Given the description of an element on the screen output the (x, y) to click on. 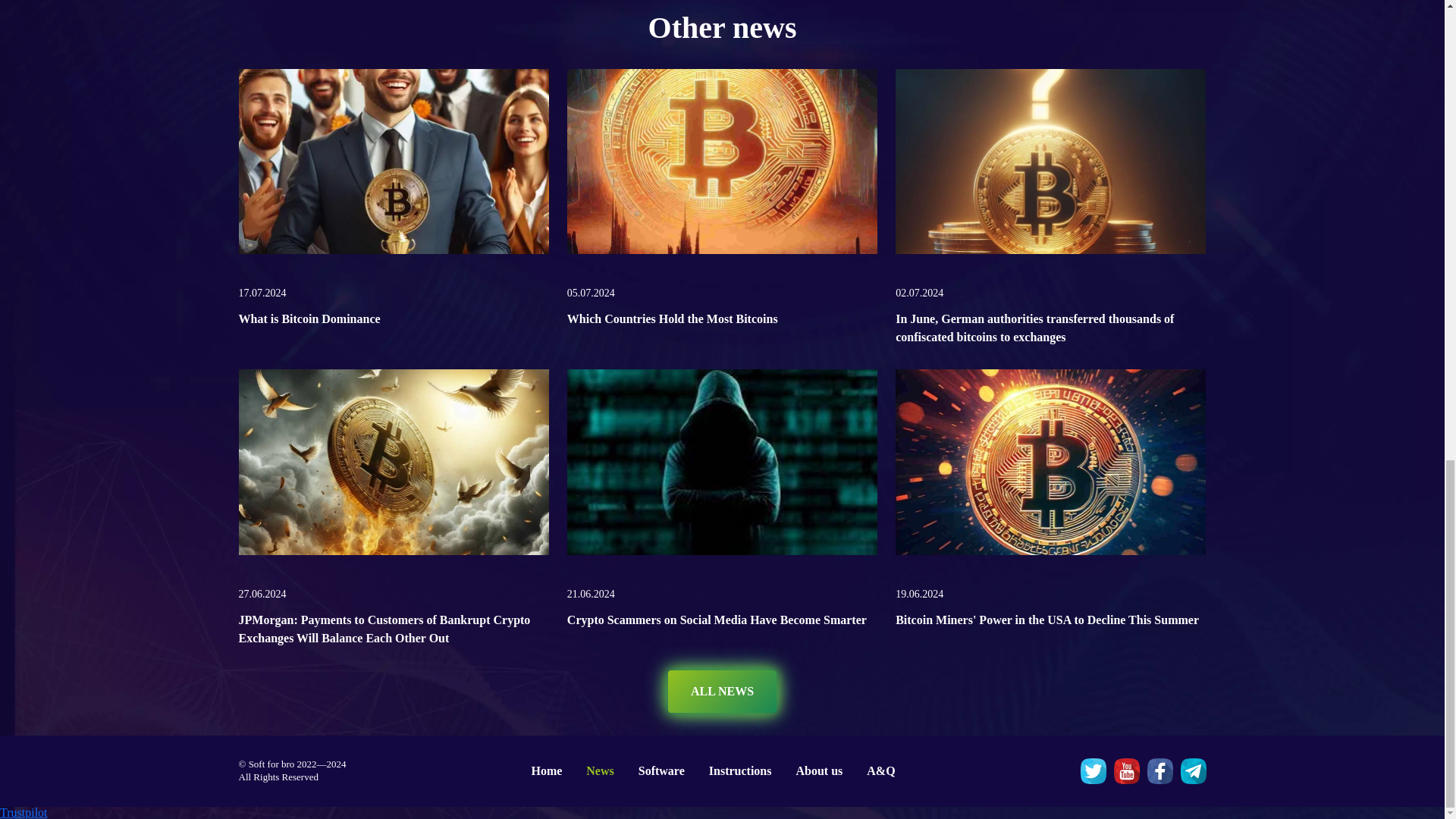
Which Countries Hold the Most Bitcoins (672, 318)
What is Bitcoin Dominance (309, 318)
Which Countries Hold the Most Bitcoins (722, 164)
Which Countries Hold the Most Bitcoins (672, 318)
What is Bitcoin Dominance (393, 164)
What is Bitcoin Dominance (309, 318)
